Given the description of an element on the screen output the (x, y) to click on. 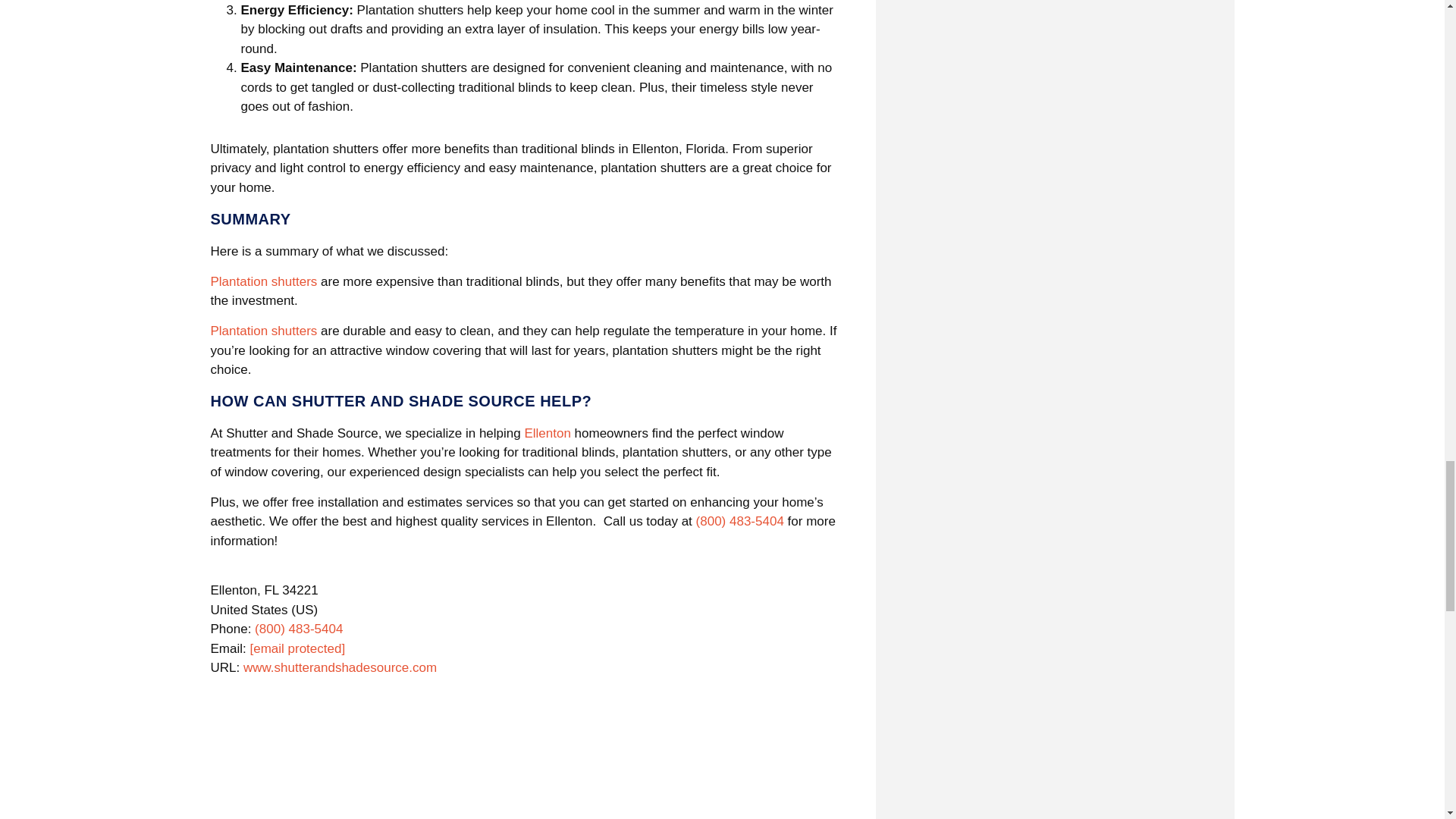
Plantation shutters (264, 281)
Ellenton (547, 432)
Plantation shutters (264, 330)
